Given the description of an element on the screen output the (x, y) to click on. 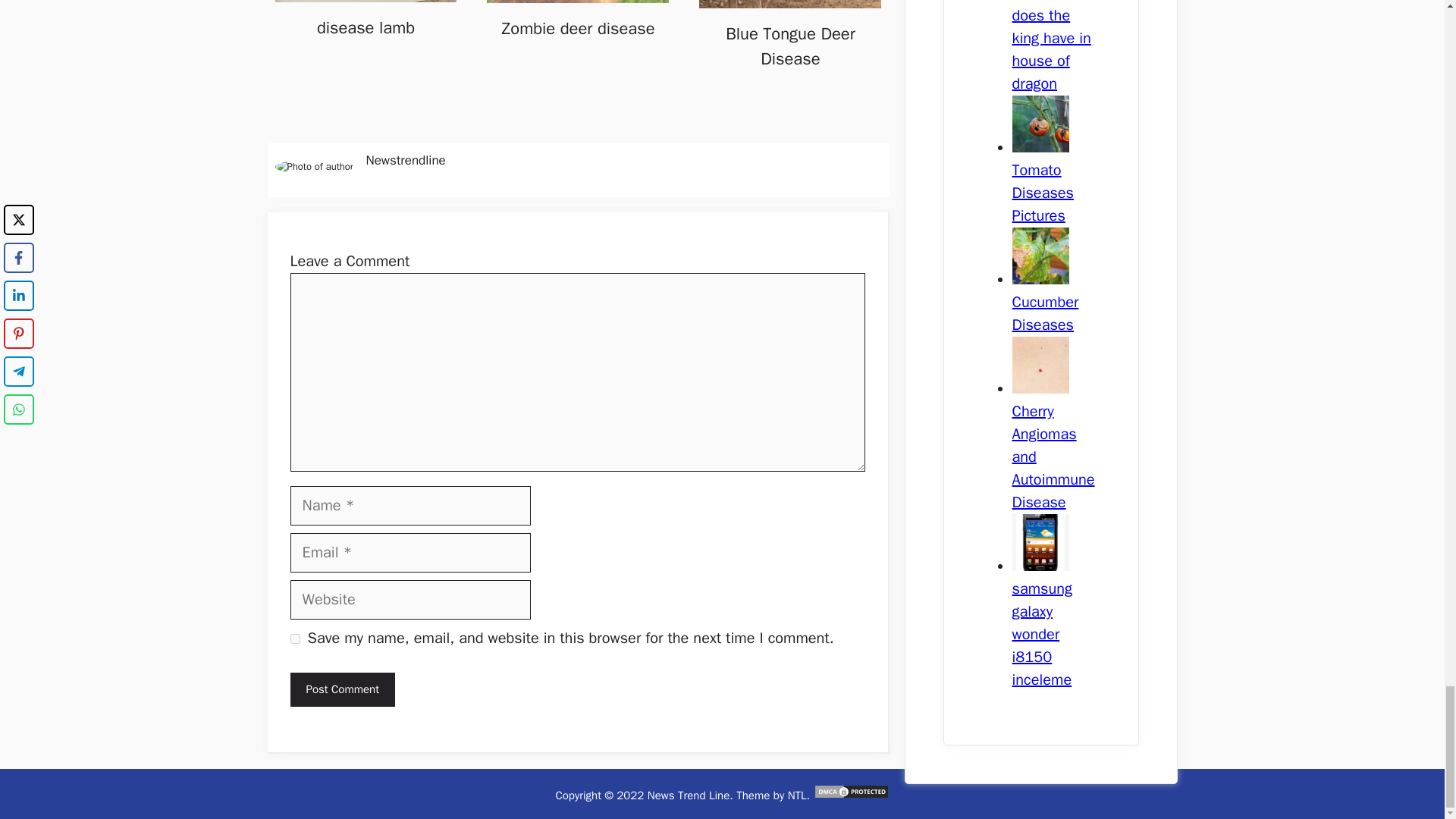
Content Protection by DMCA.com (851, 795)
Zombie deer disease (576, 28)
Post Comment (341, 689)
disease lamb (365, 27)
yes (294, 638)
